Given the description of an element on the screen output the (x, y) to click on. 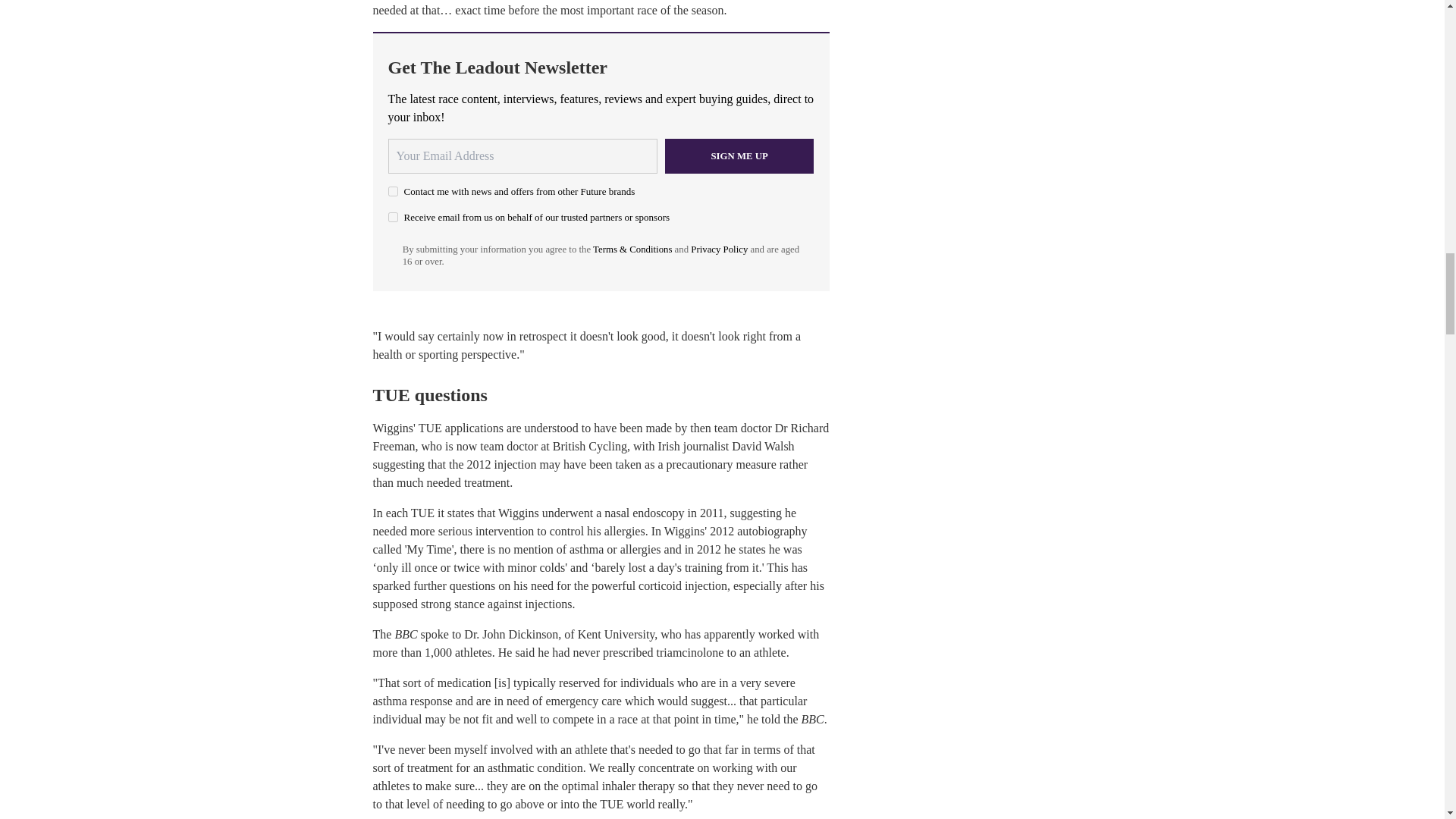
on (392, 216)
on (392, 191)
Sign me up (739, 155)
